Given the description of an element on the screen output the (x, y) to click on. 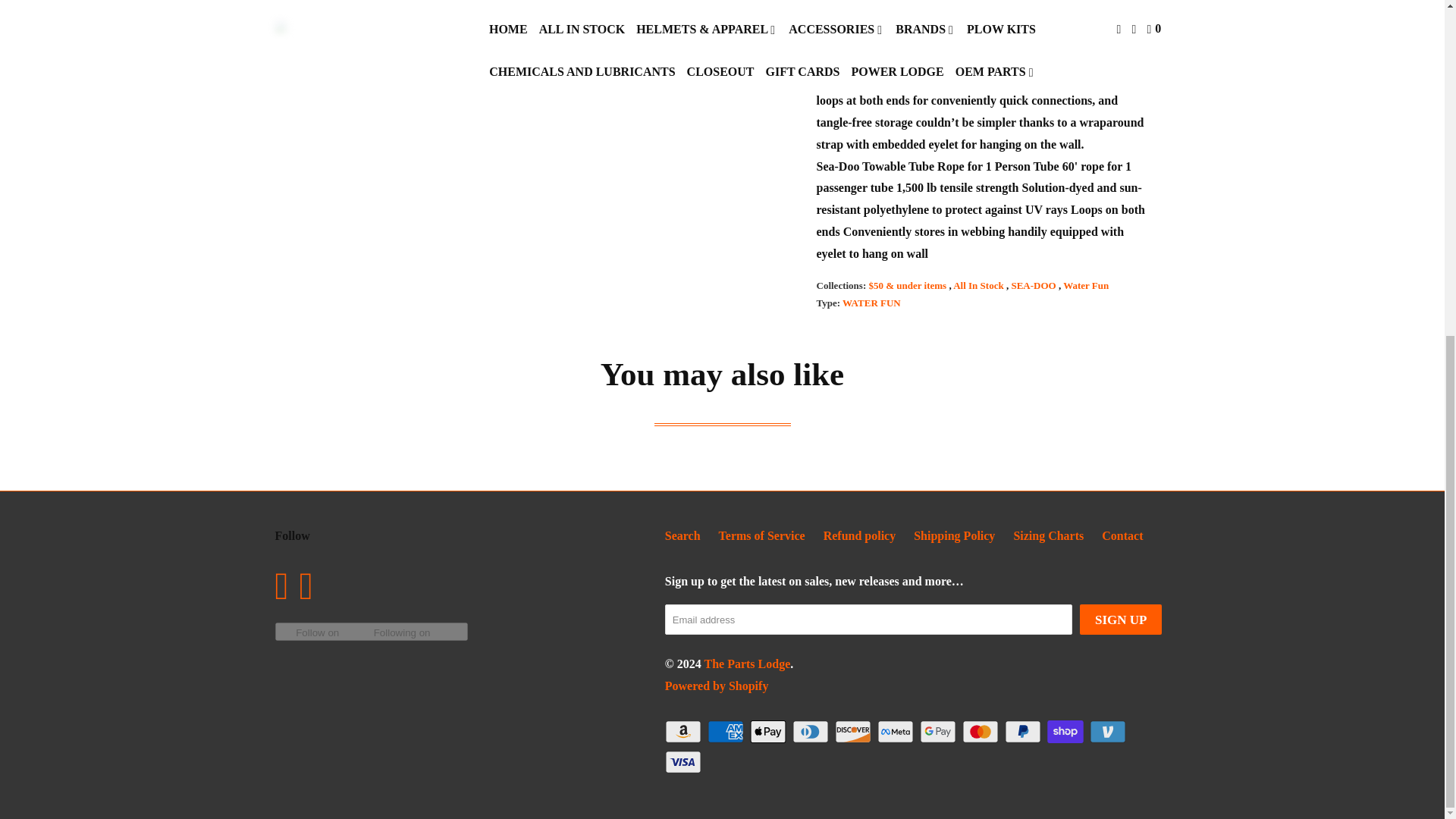
American Express (726, 731)
Visa (684, 762)
Meta Pay (897, 731)
SEA-DOO (1034, 284)
Amazon (684, 731)
Discover (854, 731)
All In Stock (979, 284)
WATER FUN (872, 302)
Shop Pay (1066, 731)
Venmo (1109, 731)
